Given the description of an element on the screen output the (x, y) to click on. 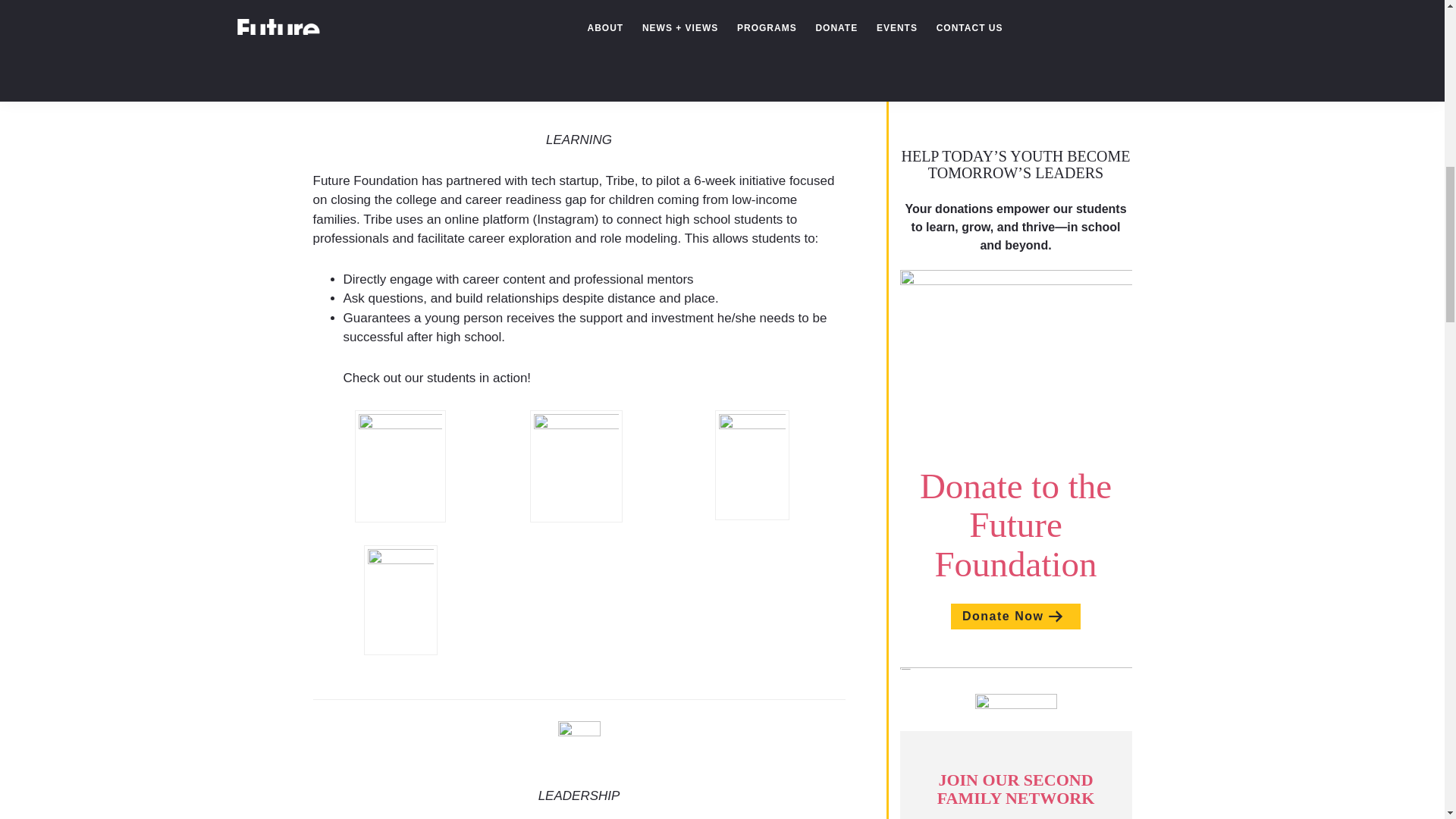
Donate Now (1015, 616)
